Given the description of an element on the screen output the (x, y) to click on. 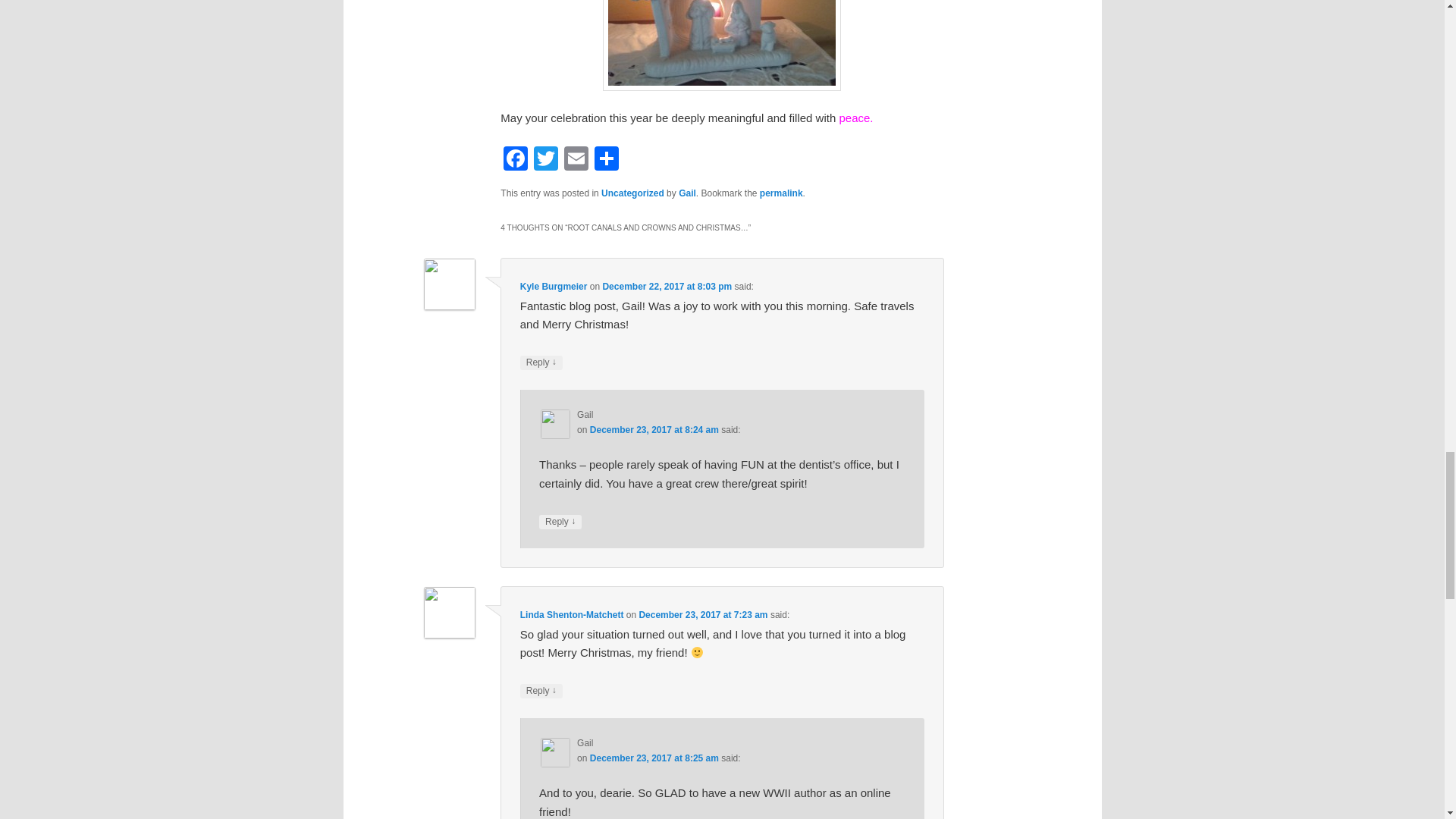
Share (606, 160)
December 23, 2017 at 7:23 am (703, 614)
December 22, 2017 at 8:03 pm (667, 286)
Email (575, 160)
Twitter (545, 160)
December 23, 2017 at 8:25 am (654, 757)
Facebook (515, 160)
Twitter (545, 160)
December 23, 2017 at 8:24 am (654, 429)
Kyle Burgmeier (553, 286)
permalink (781, 193)
Linda Shenton-Matchett (571, 614)
Email (575, 160)
Uncategorized (632, 193)
Gail (686, 193)
